Given the description of an element on the screen output the (x, y) to click on. 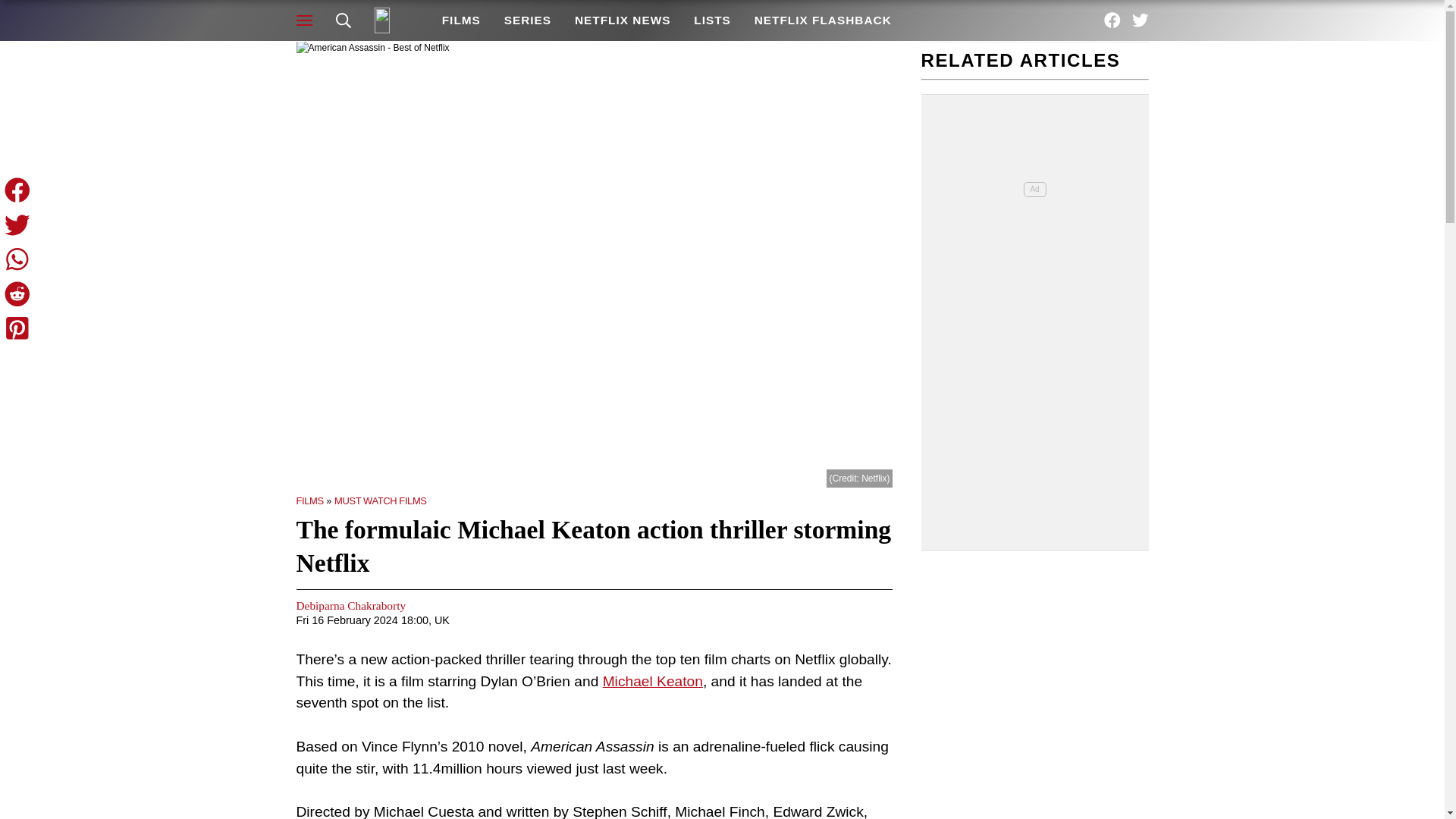
FILMS (460, 20)
FILMS (309, 500)
LISTS (712, 20)
MUST WATCH FILMS (380, 500)
Michael Keaton (652, 681)
Best Of Netflix on Facebook (1112, 20)
NETFLIX FLASHBACK (822, 20)
SERIES (527, 20)
Best Of Netflix (396, 20)
Debiparna Chakraborty (350, 605)
